Given the description of an element on the screen output the (x, y) to click on. 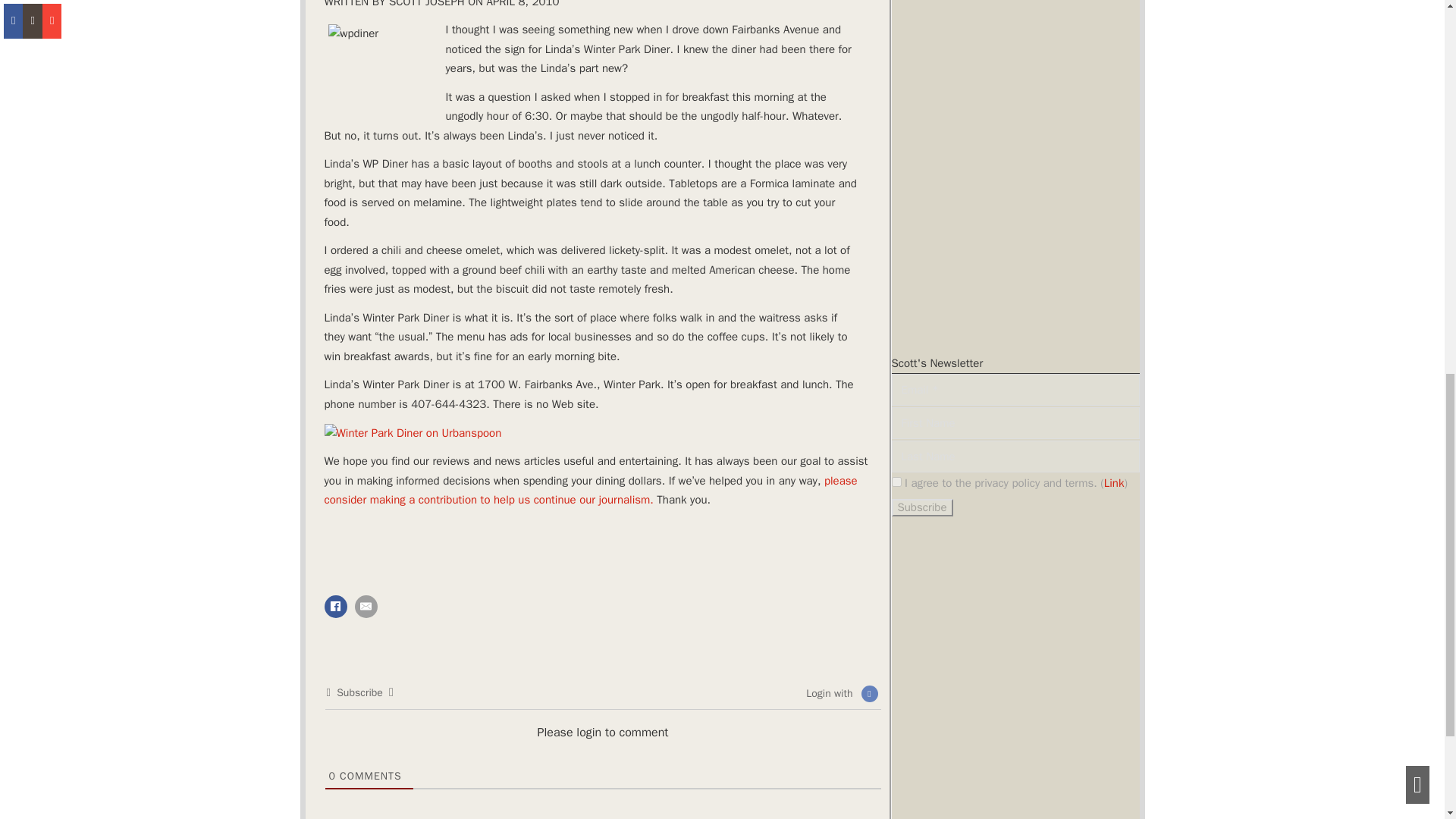
Linda's Winter Park Diner (413, 223)
